Given the description of an element on the screen output the (x, y) to click on. 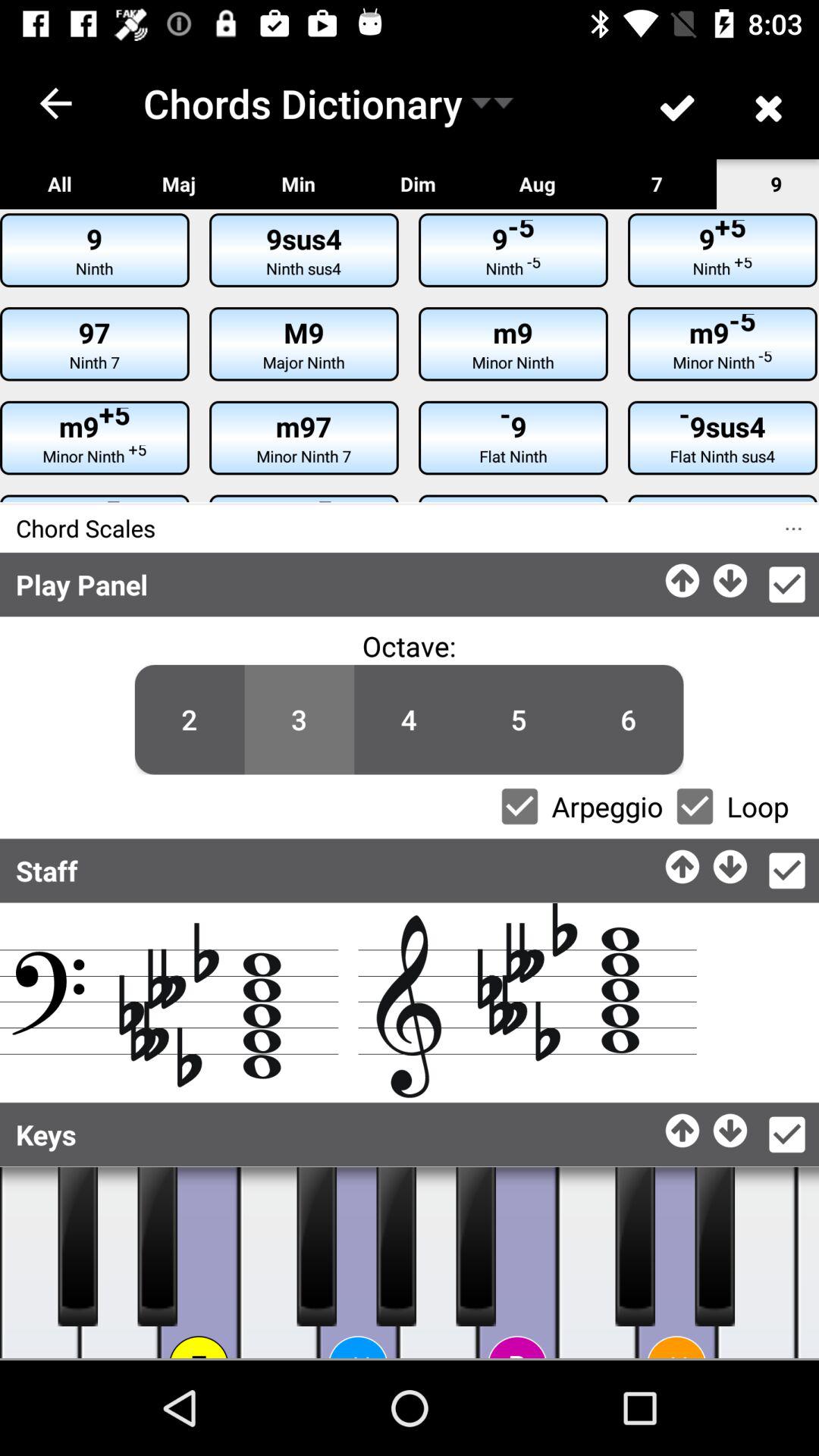
down one staff (731, 862)
